Given the description of an element on the screen output the (x, y) to click on. 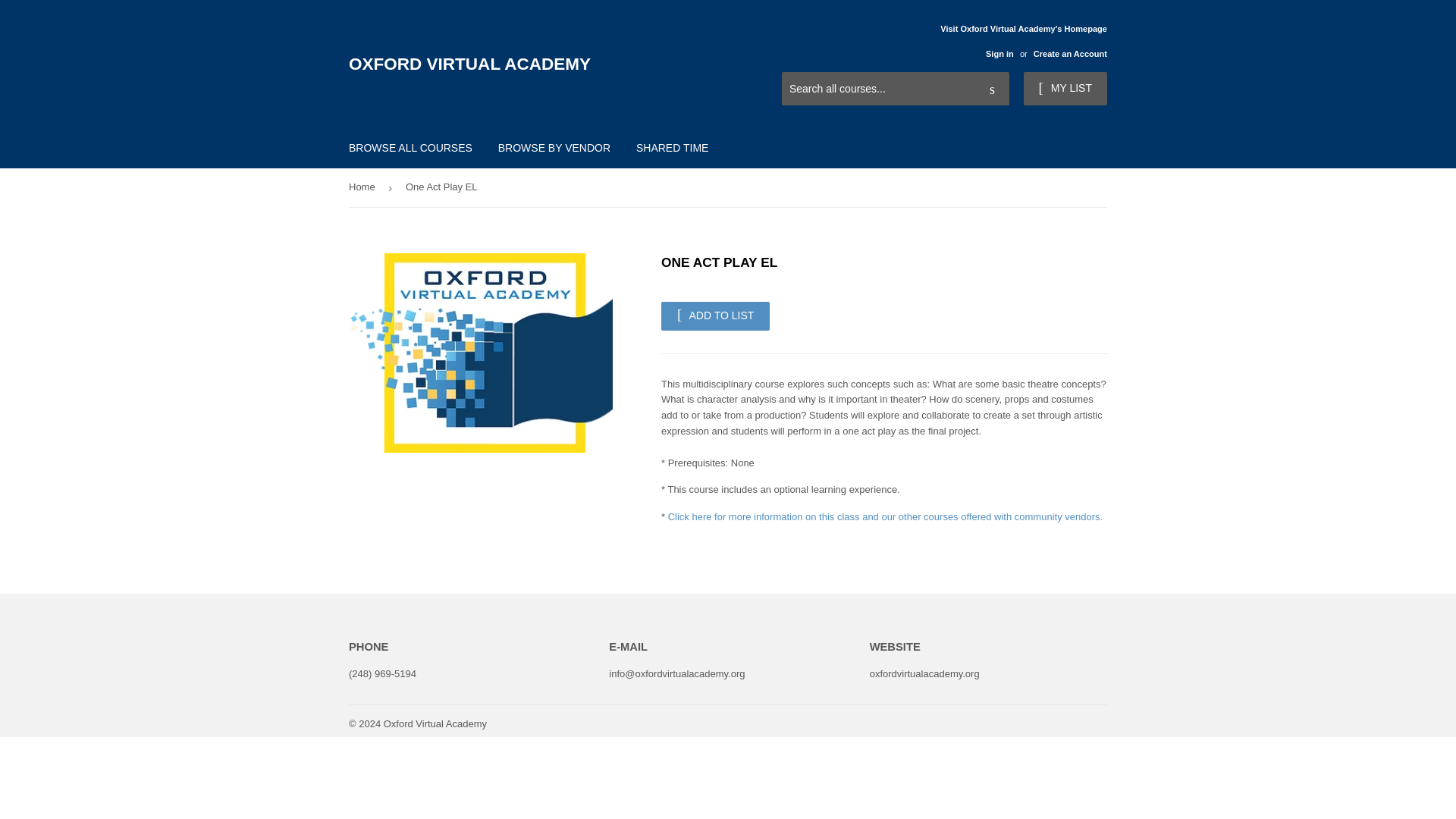
oxfordvirtualacademy.org (924, 673)
BROWSE BY VENDOR (553, 147)
Sign in (999, 53)
OXFORD VIRTUAL ACADEMY (538, 64)
MY LIST (1064, 88)
SHARED TIME (671, 147)
Search (992, 89)
Create an Account (1069, 53)
BROWSE ALL COURSES (410, 147)
Oxford Virtual Academy (435, 723)
